Given the description of an element on the screen output the (x, y) to click on. 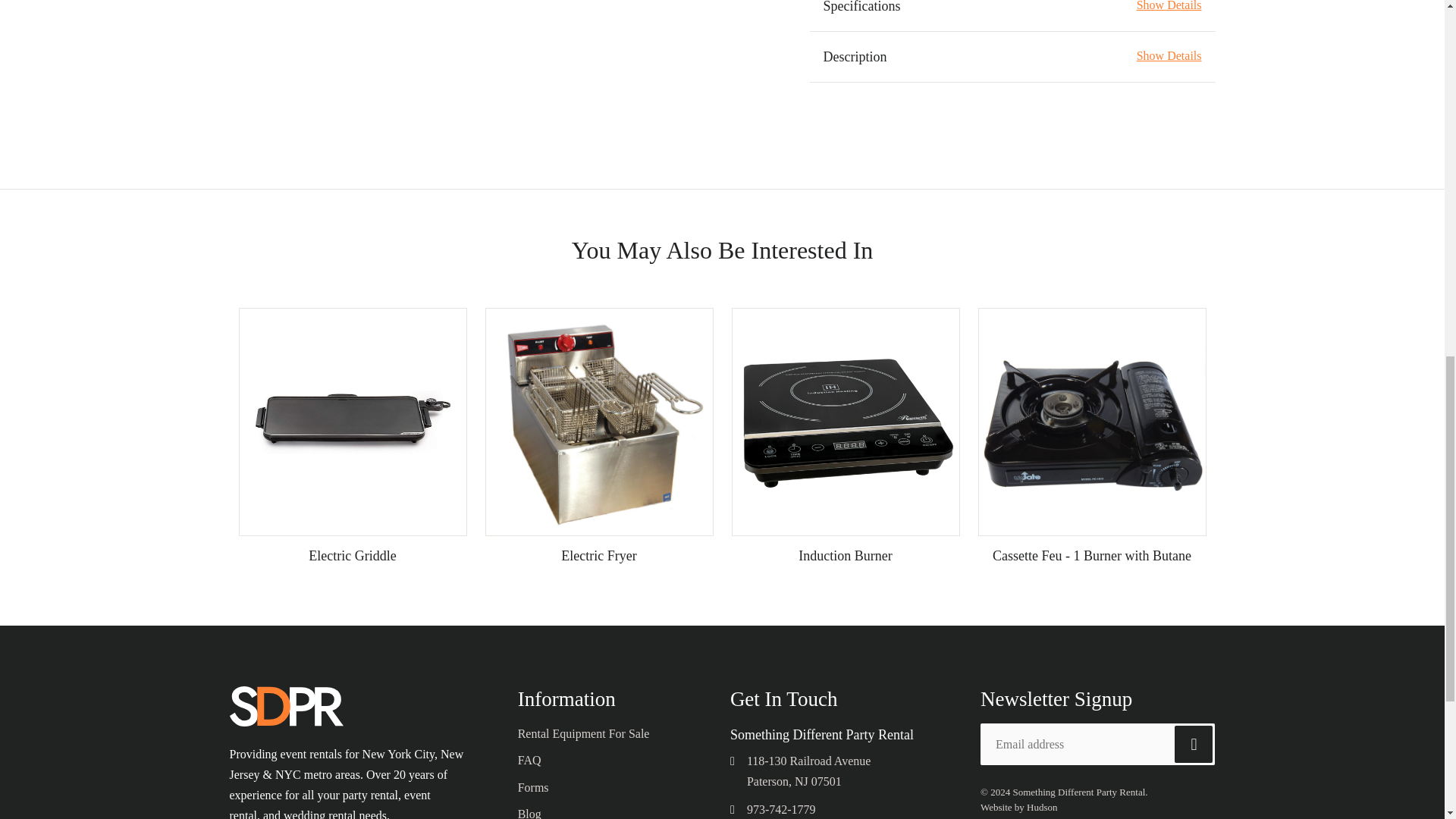
Show Details (1169, 5)
Electric Griddle (352, 555)
Show Details (1169, 55)
